Given the description of an element on the screen output the (x, y) to click on. 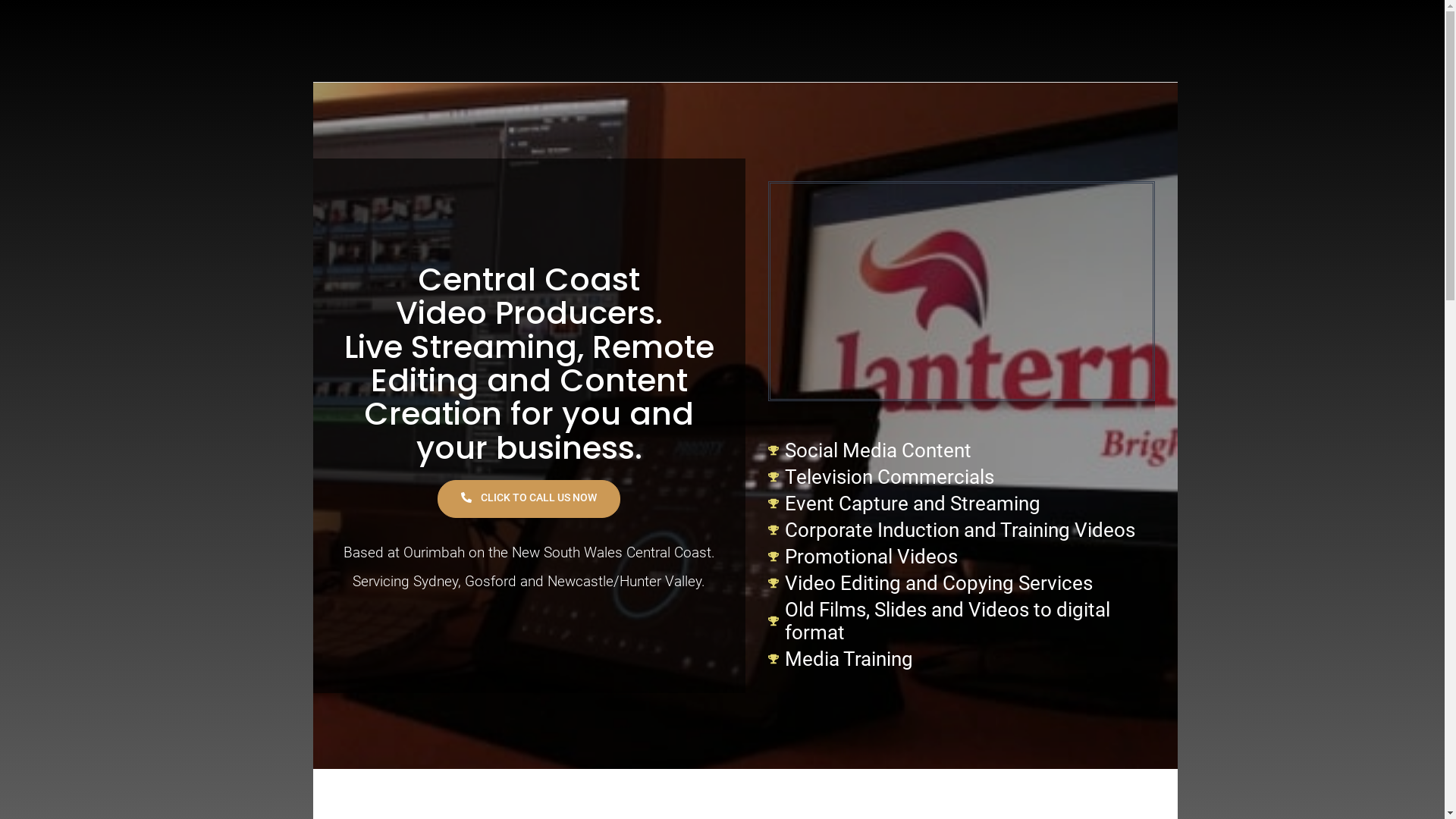
CLICK TO CALL US NOW Element type: text (528, 498)
